Given the description of an element on the screen output the (x, y) to click on. 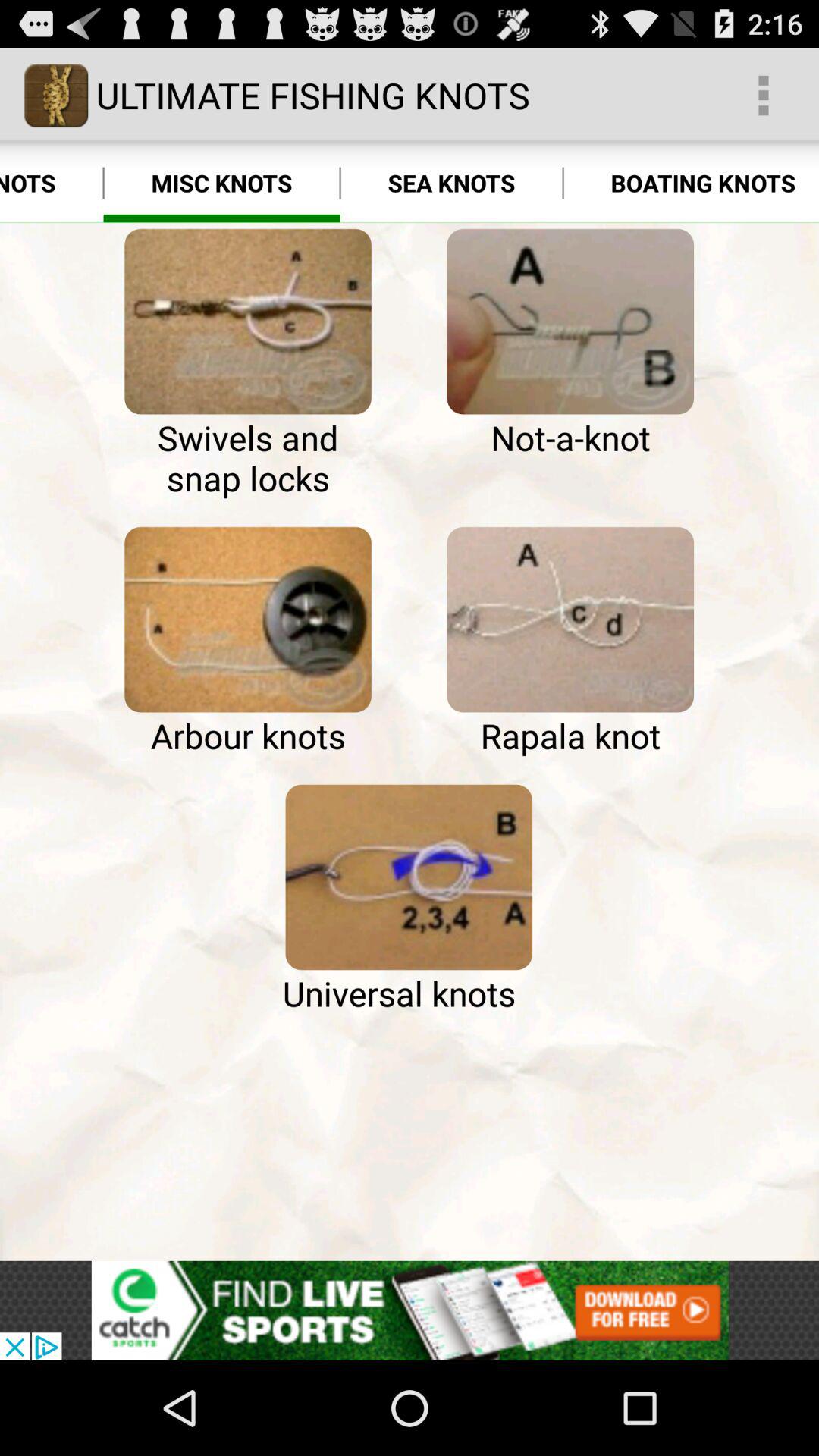
turn on boating knots (691, 182)
